Given the description of an element on the screen output the (x, y) to click on. 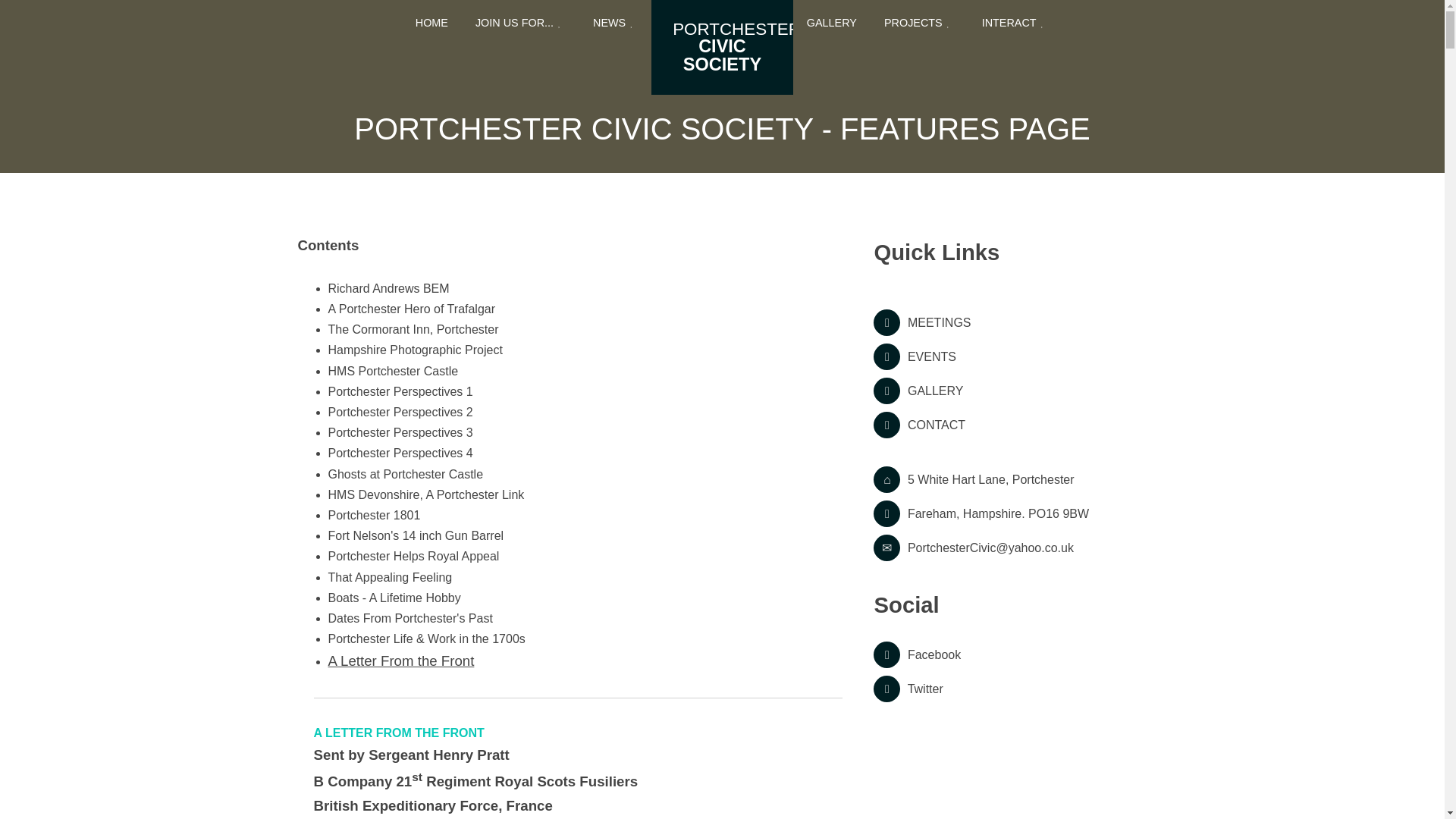
PROJECTS (919, 22)
Boats - A Lifetime Hobby (393, 597)
HMS Devonshire, A Portchester Link (425, 494)
Portchester Perspectives 3 (399, 431)
Portchester 1801 (373, 514)
The Cormorant Inn, Portchester (412, 328)
That Appealing Feeling (389, 576)
Portchester Helps Royal Appeal (413, 555)
Portchester Perspectives 2 (399, 411)
Portchester Perspectives 4 (399, 452)
